Given the description of an element on the screen output the (x, y) to click on. 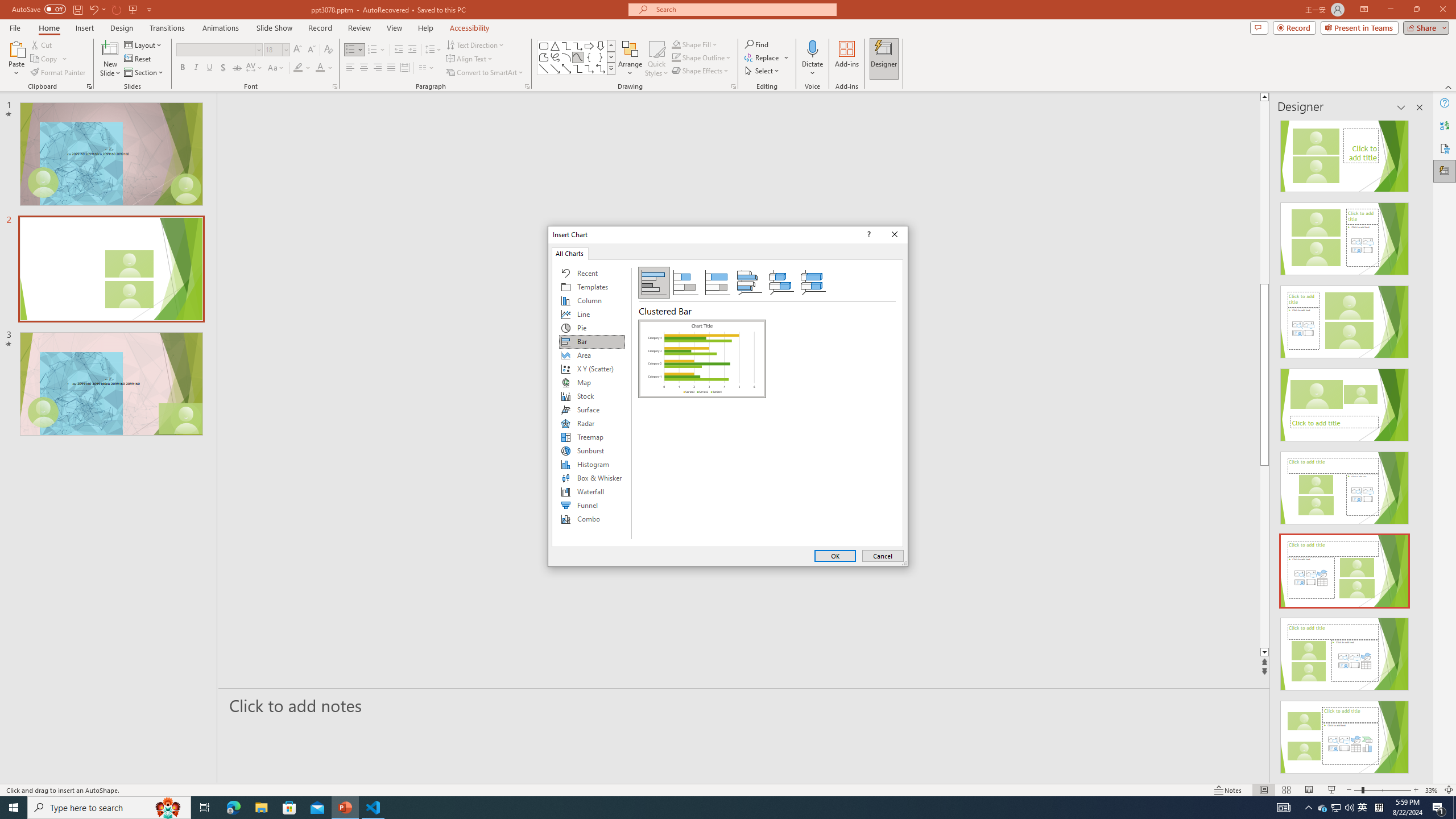
Character Spacing (254, 67)
Increase Indent (412, 49)
Find... (756, 44)
Italic (195, 67)
Chart Types (591, 403)
Justify (390, 67)
Reset (138, 58)
